Given the description of an element on the screen output the (x, y) to click on. 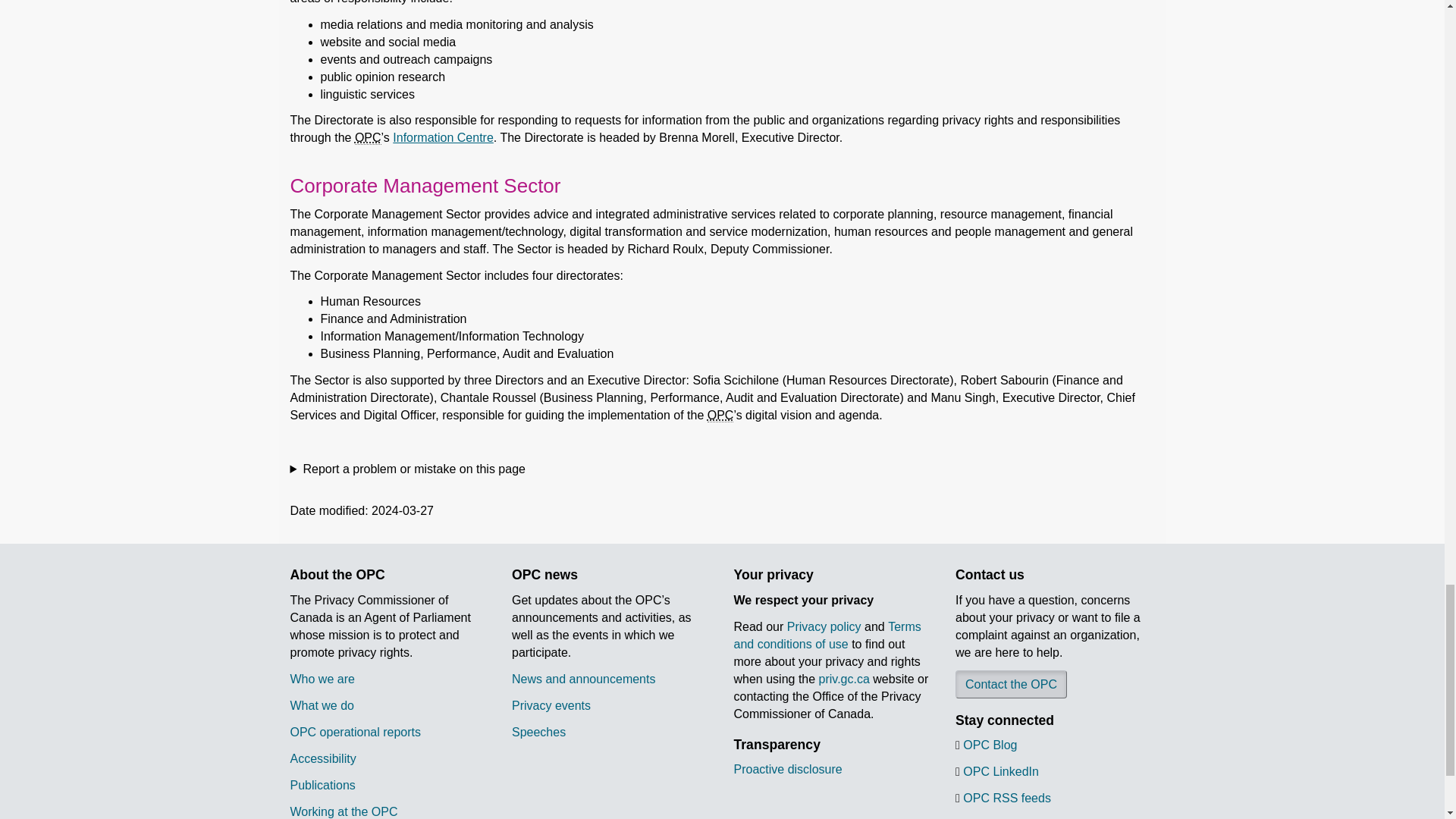
Terms and conditions of use (827, 634)
What we do (321, 705)
Contact the OPC (1011, 684)
Privacy policy (824, 626)
Speeches (539, 730)
Publications (322, 784)
Privacy events (551, 705)
OPC operational reports (354, 730)
Information Centre (443, 137)
priv.gc.ca (843, 677)
Who we are (321, 677)
News and announcements (583, 677)
Proactive disclosure (788, 768)
Accessibility (322, 758)
OPC Blog (989, 744)
